Given the description of an element on the screen output the (x, y) to click on. 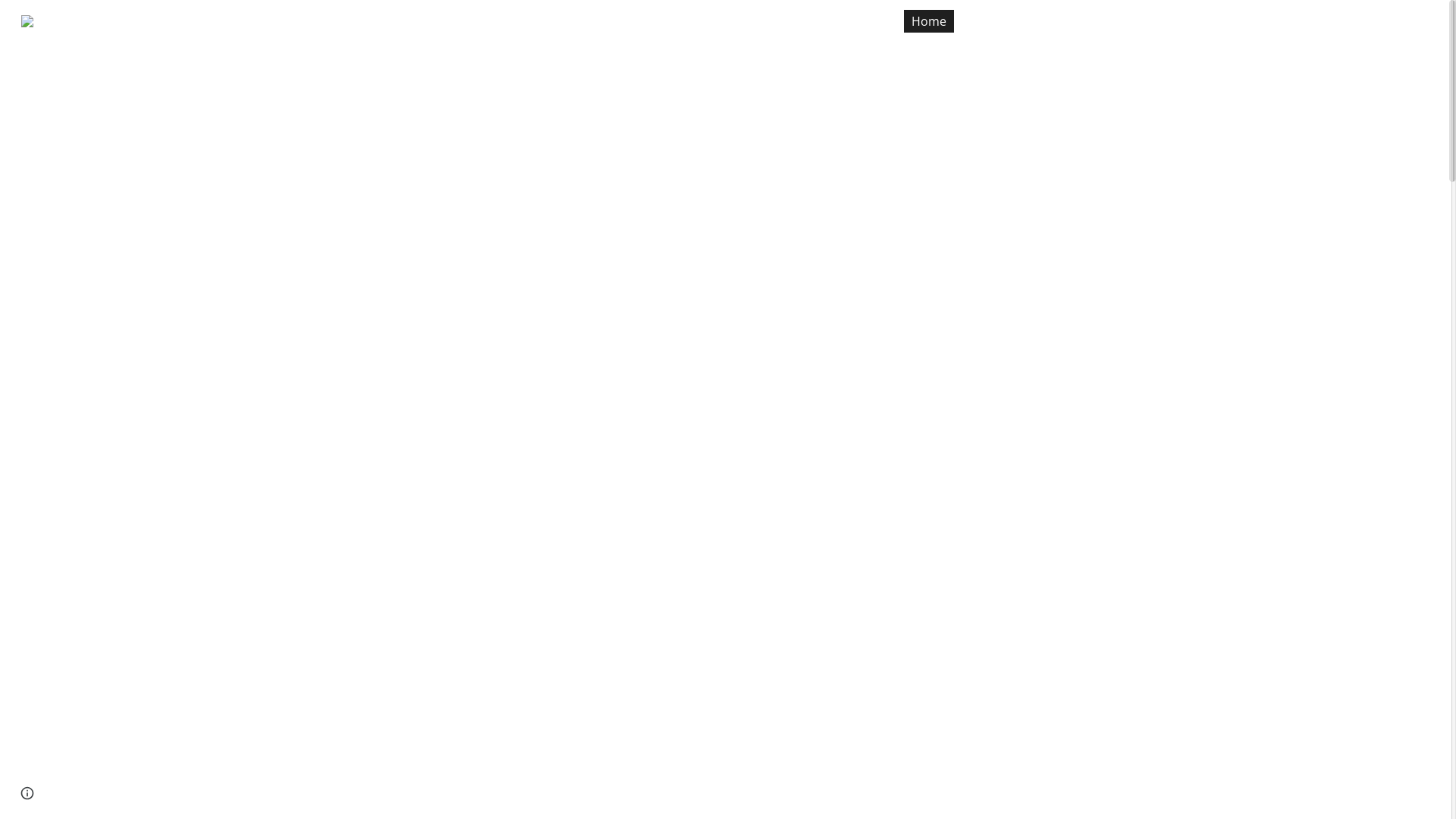
Home Element type: text (928, 20)
Contact Element type: text (1378, 20)
Podcasts Element type: text (1167, 20)
2on1: Fantasy Sports Element type: text (93, 18)
Expand/Collapse Element type: hover (1330, 20)
Articles Element type: text (1094, 20)
Resources Element type: text (1001, 20)
Expand/Collapse Element type: hover (1048, 20)
Fantasy Leagues Element type: text (1266, 20)
